Given the description of an element on the screen output the (x, y) to click on. 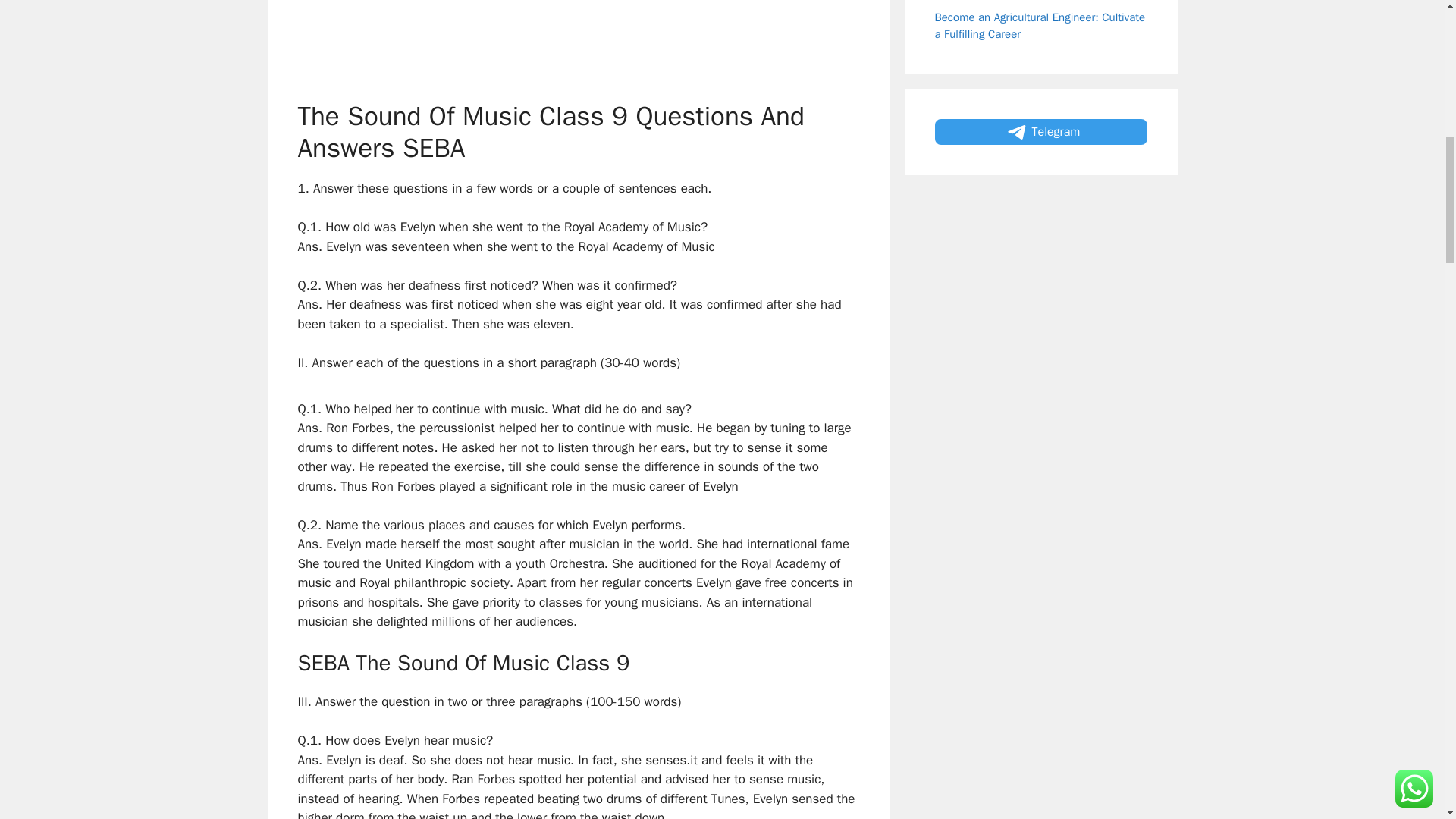
Advertisement (618, 46)
Telegram (1040, 131)
